Given the description of an element on the screen output the (x, y) to click on. 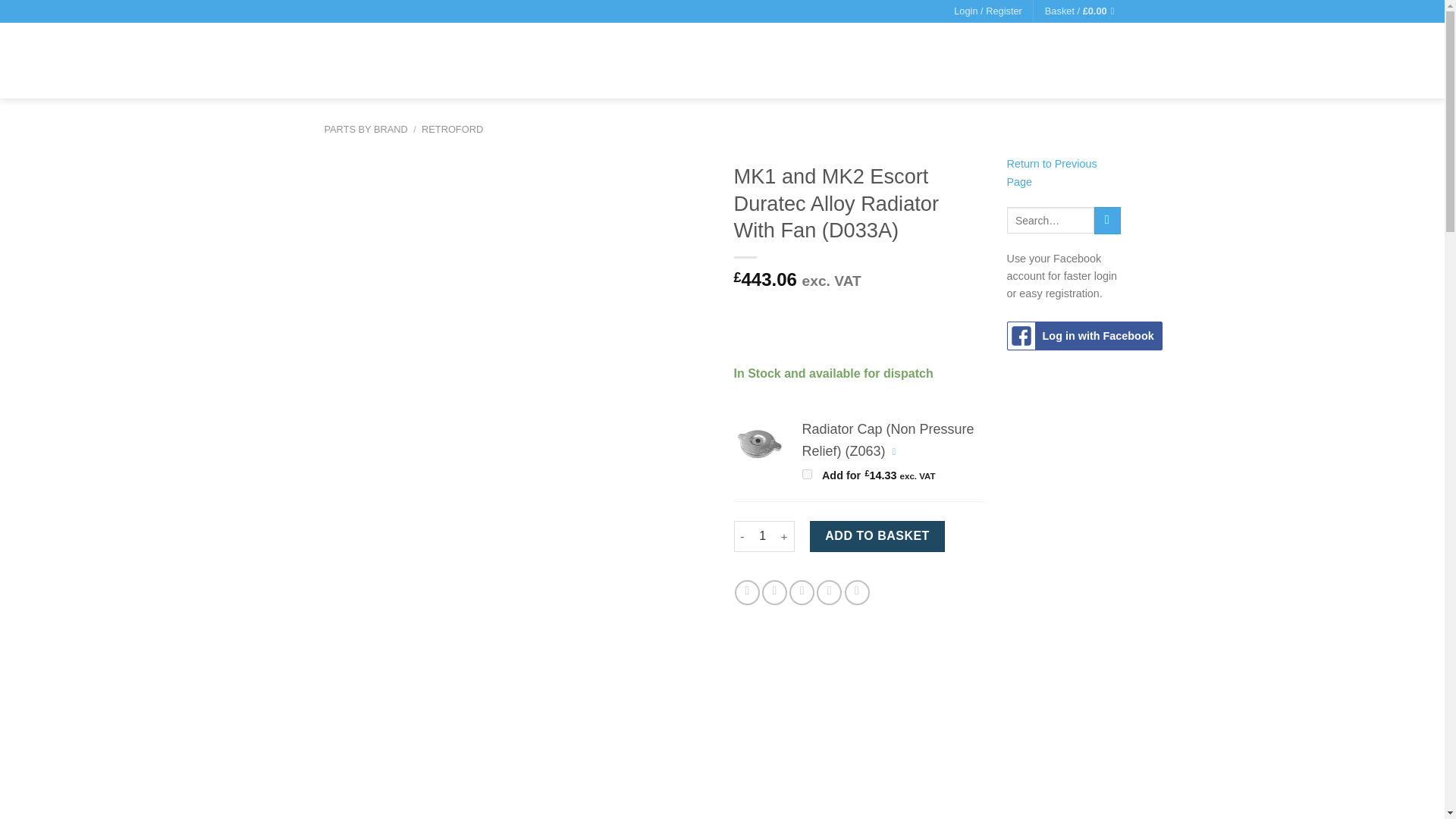
Gallery (968, 62)
Contact (1030, 62)
Shop (714, 61)
Z06320A.jpg (758, 443)
Share on Facebook (747, 592)
Share on LinkedIn (856, 592)
Email to a Friend (801, 592)
Basket (1083, 11)
Share on Twitter (774, 592)
Technical Guides (876, 61)
PARTS BY BRAND (365, 129)
Pin on Pinterest (828, 592)
About Us (778, 62)
Home (660, 62)
